Given the description of an element on the screen output the (x, y) to click on. 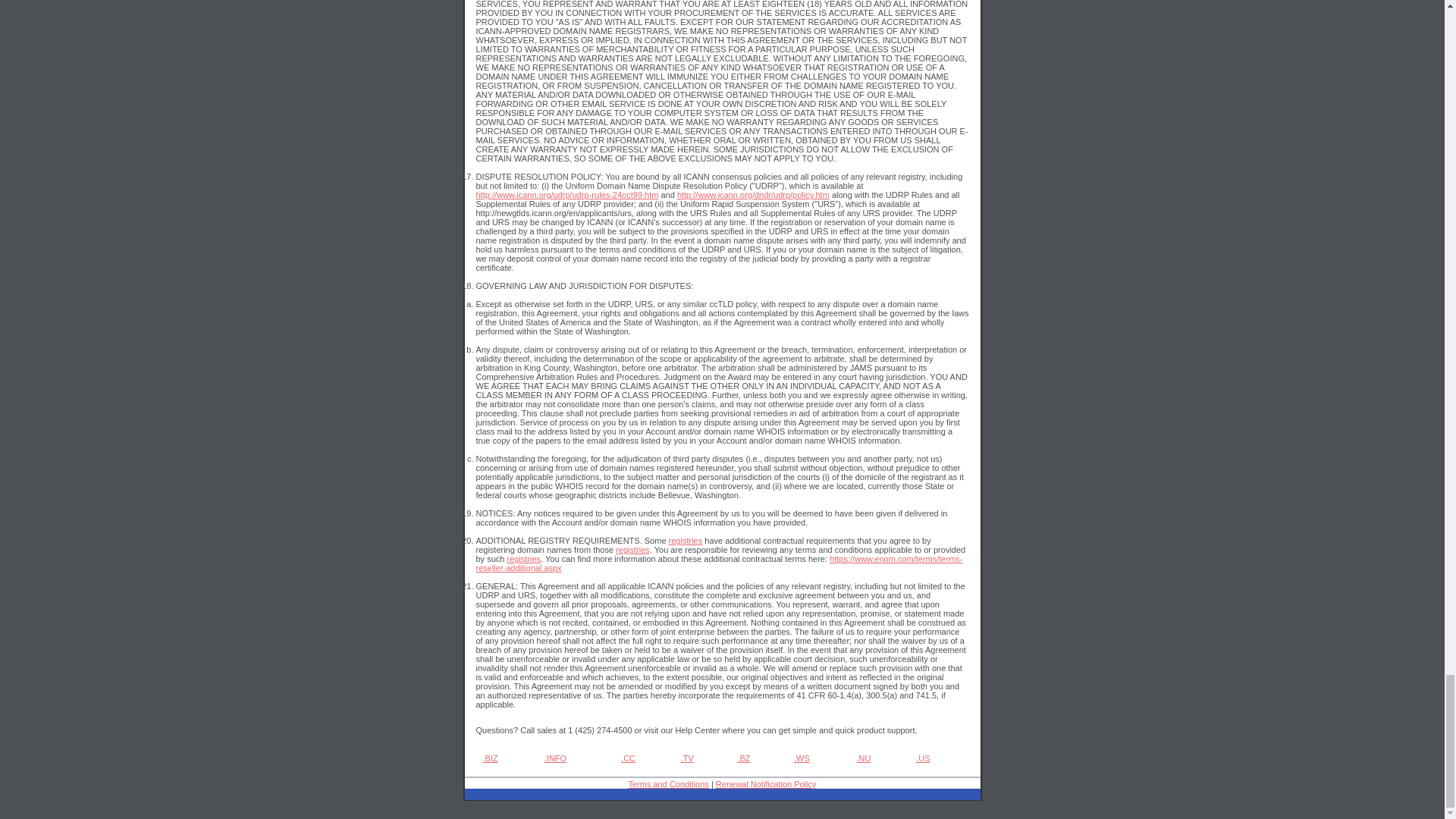
.TV (687, 757)
.US (922, 757)
Terms and Conditions (667, 783)
.NU (863, 757)
registries (523, 558)
.CC (627, 757)
.INFO (555, 757)
.BZ (742, 757)
Renewal Notification Policy (766, 783)
registries (685, 540)
registries (632, 549)
.BIZ (489, 757)
.WS (801, 757)
